Given the description of an element on the screen output the (x, y) to click on. 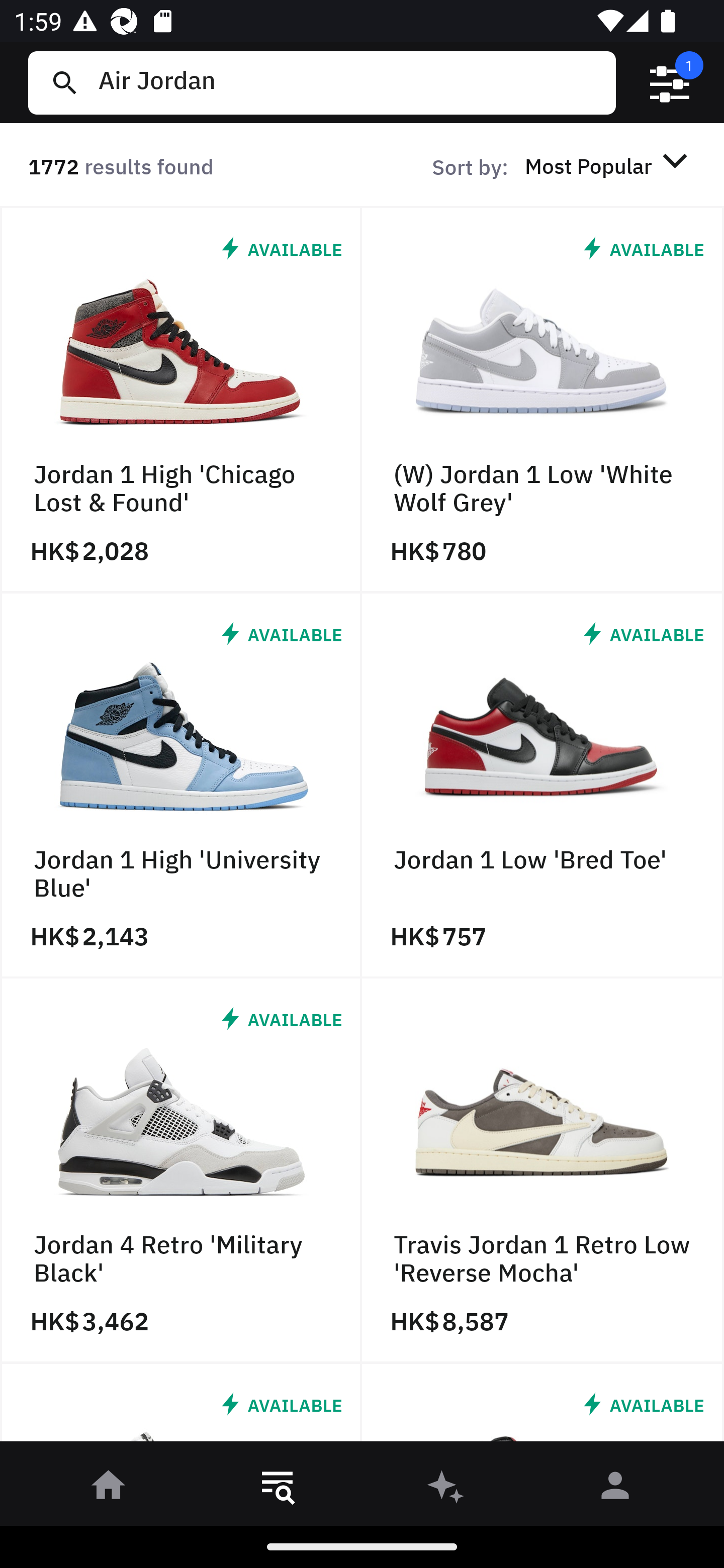
Air Jordan (349, 82)
 (669, 82)
Most Popular  (609, 165)
 AVAILABLE Jordan 1 Low 'Bred Toe' HK$ 757 (543, 785)
󰋜 (108, 1488)
󱎸 (277, 1488)
󰫢 (446, 1488)
󰀄 (615, 1488)
